Given the description of an element on the screen output the (x, y) to click on. 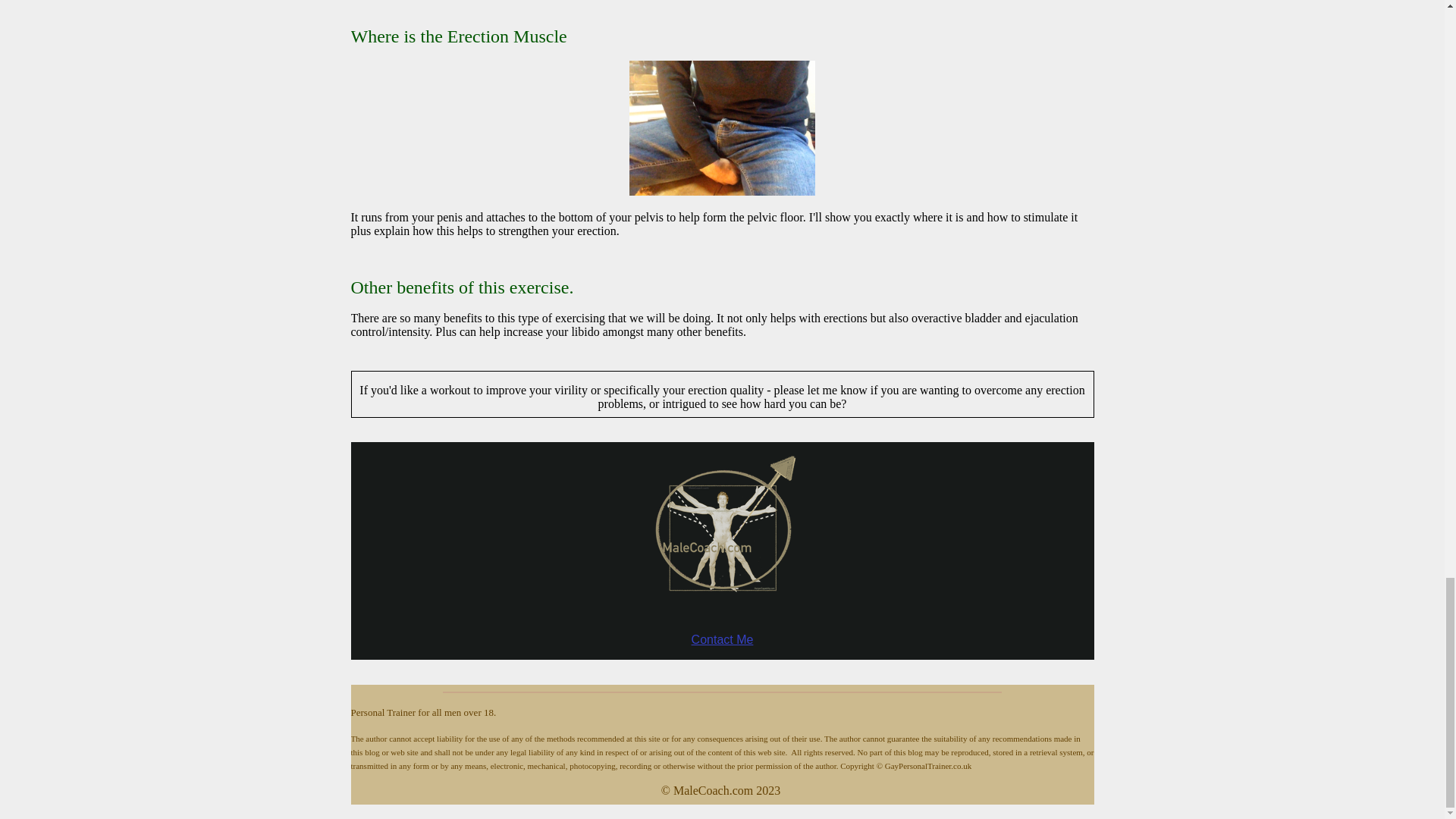
male coach logo in style of vitruvian man  (721, 536)
Contact Me (722, 639)
pelvicfloor (721, 127)
